Given the description of an element on the screen output the (x, y) to click on. 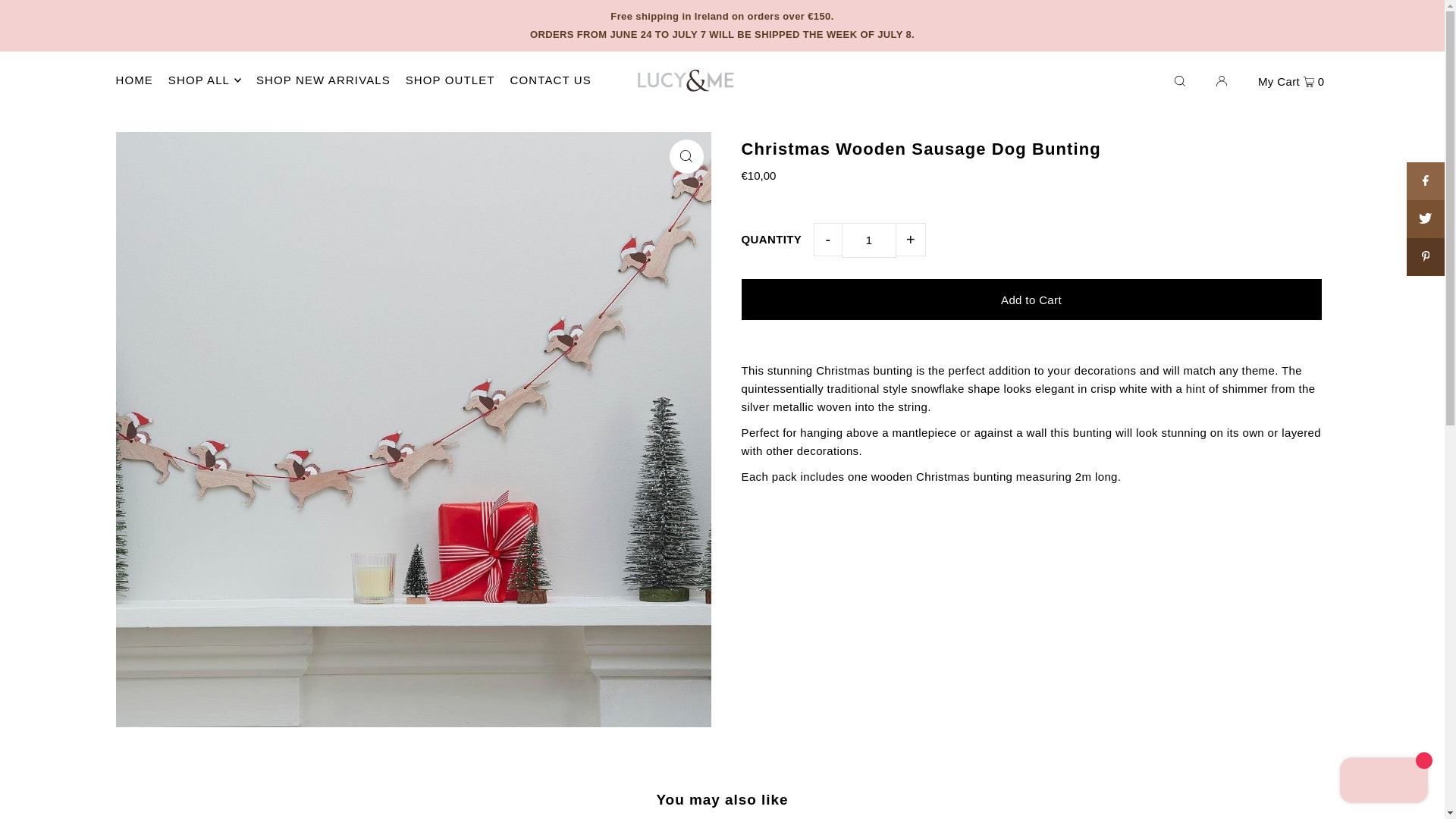
SHOP ALL (204, 80)
SHOP NEW ARRIVALS (323, 80)
HOME (133, 80)
1 (868, 239)
SHOP OUTLET (450, 80)
Click to zoom (685, 156)
Add to Cart (1031, 299)
CONTACT US (550, 80)
